Given the description of an element on the screen output the (x, y) to click on. 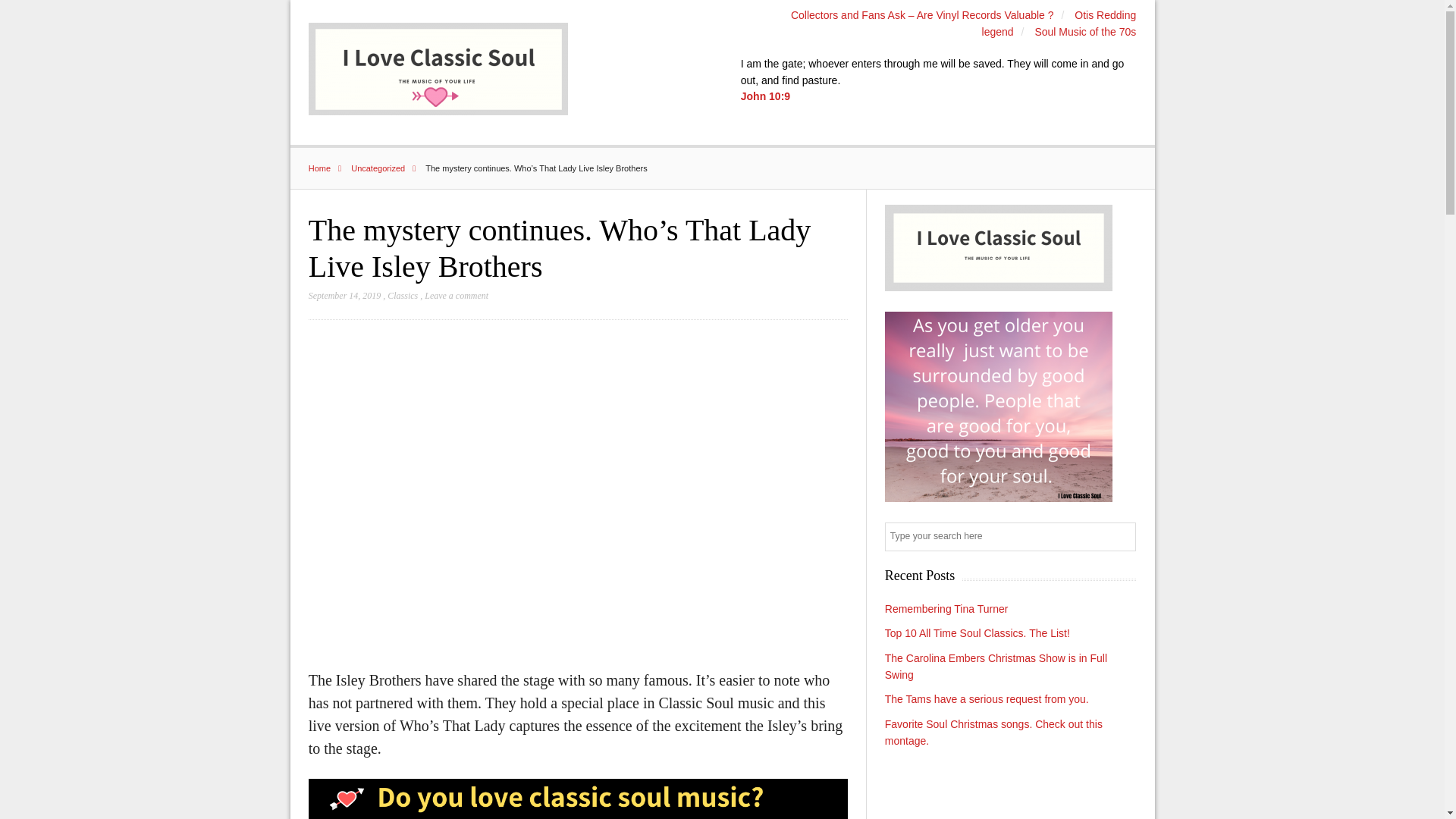
The Carolina Embers Christmas Show is in Full Swing (995, 665)
Search (1123, 537)
Home (328, 167)
Soul Music of the 70s (1084, 31)
The Tams have a serious request from you. (987, 698)
Leave a comment (456, 295)
Uncategorized (386, 167)
John 10:9 (765, 96)
Top 10 All Time Soul Classics. The List! (977, 633)
Favorite Soul Christmas songs. Check out this montage. (993, 732)
